Given the description of an element on the screen output the (x, y) to click on. 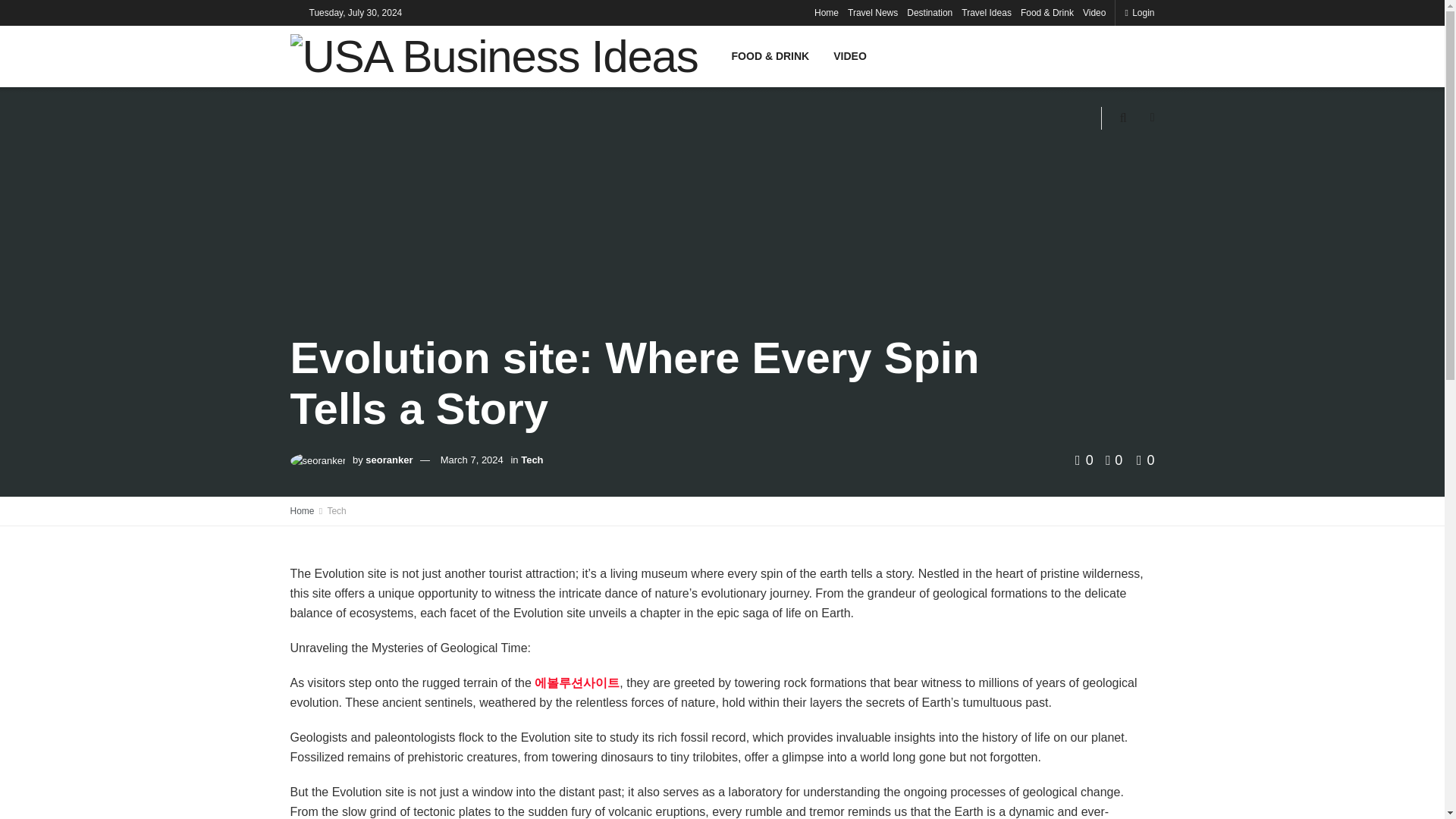
Login (1139, 12)
Home (825, 12)
Destination (929, 12)
Travel Ideas (985, 12)
TRAVEL NEWS (826, 12)
Travel News (872, 12)
DESTINATION (923, 12)
HOME (747, 12)
